Given the description of an element on the screen output the (x, y) to click on. 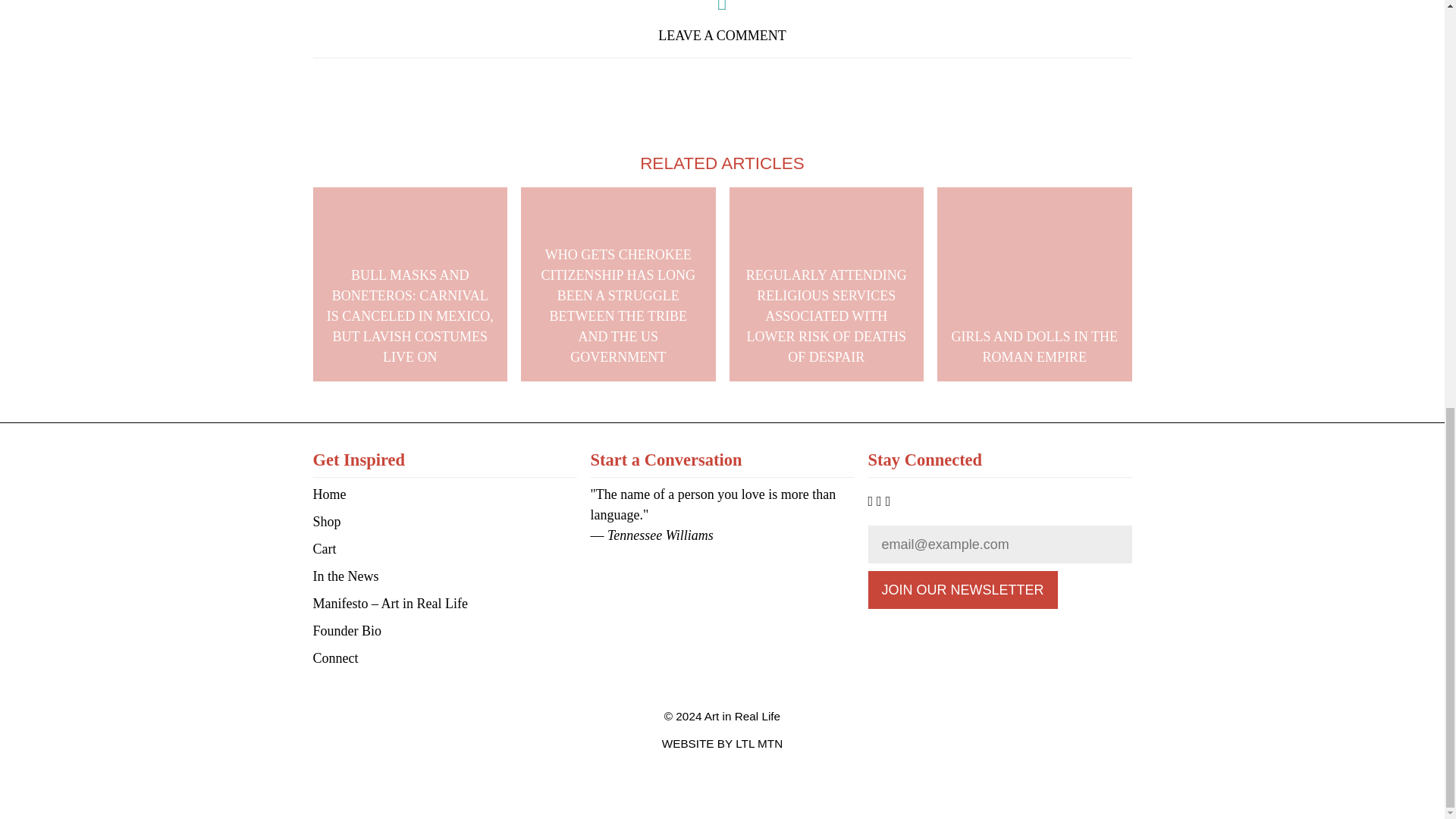
Join our Newsletter (962, 589)
Girls and Dolls in the Roman Empire (1034, 284)
